Given the description of an element on the screen output the (x, y) to click on. 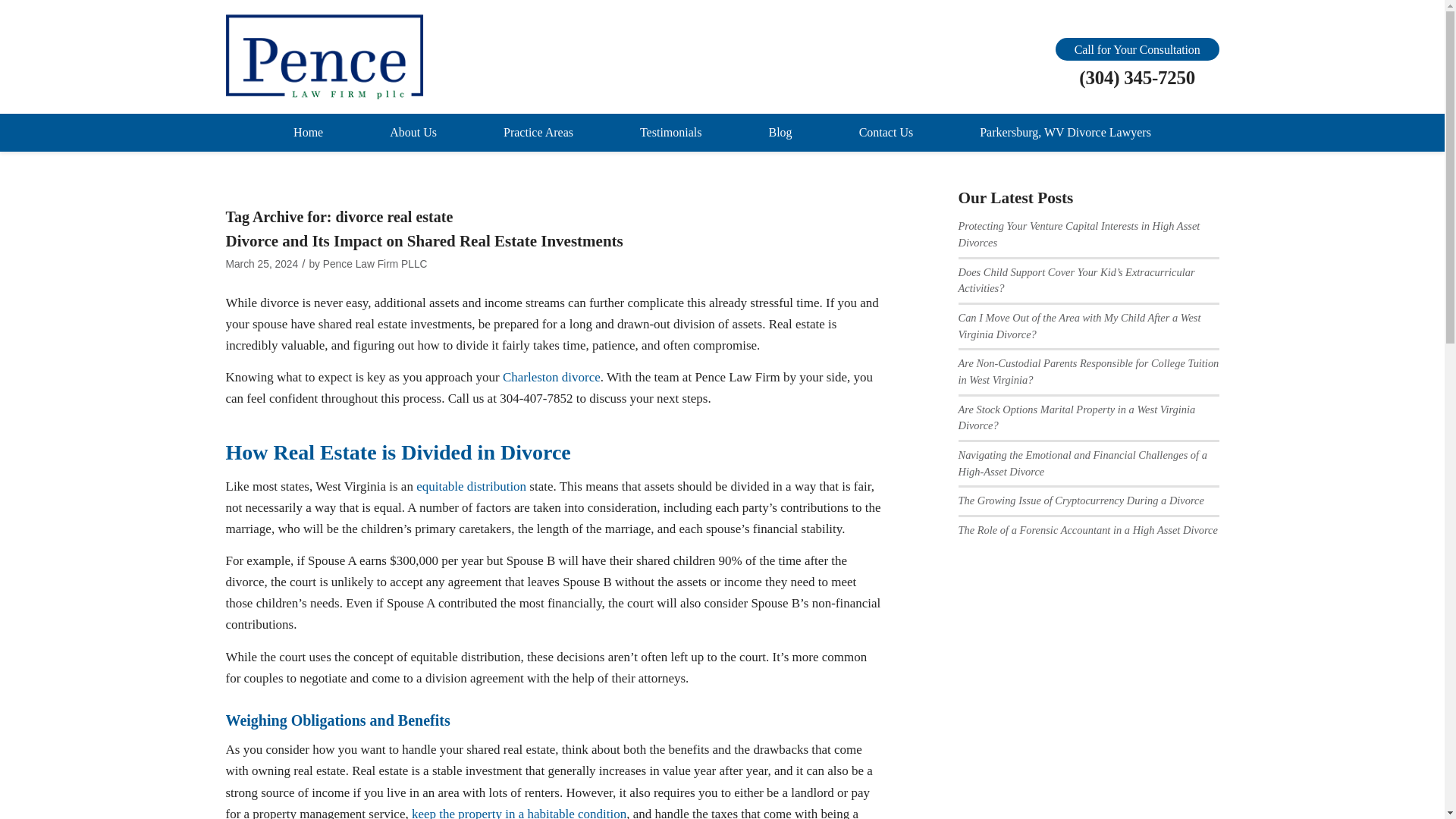
Posts by Pence Law Firm PLLC (375, 264)
About Us (413, 132)
Practice Areas (538, 132)
logo (325, 56)
Home (308, 132)
